Given the description of an element on the screen output the (x, y) to click on. 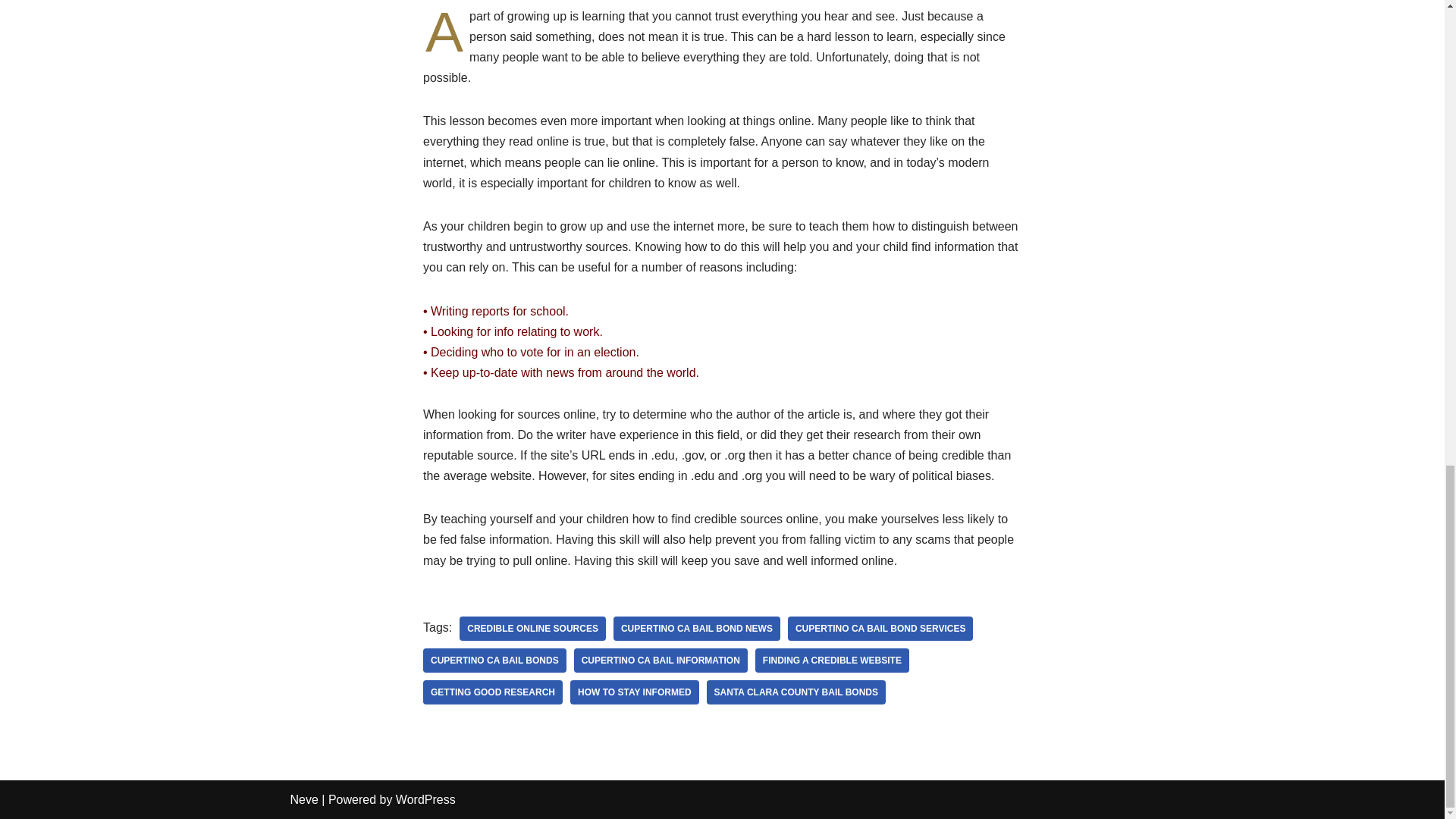
santa clara county bail bonds (795, 692)
credible online sources (532, 628)
cupertino ca bail bond news (696, 628)
CUPERTINO CA BAIL BOND NEWS (696, 628)
HOW TO STAY INFORMED (634, 692)
CUPERTINO CA BAIL BOND SERVICES (879, 628)
CUPERTINO CA BAIL INFORMATION (660, 660)
GETTING GOOD RESEARCH (492, 692)
FINDING A CREDIBLE WEBSITE (831, 660)
how to stay informed (634, 692)
